Given the description of an element on the screen output the (x, y) to click on. 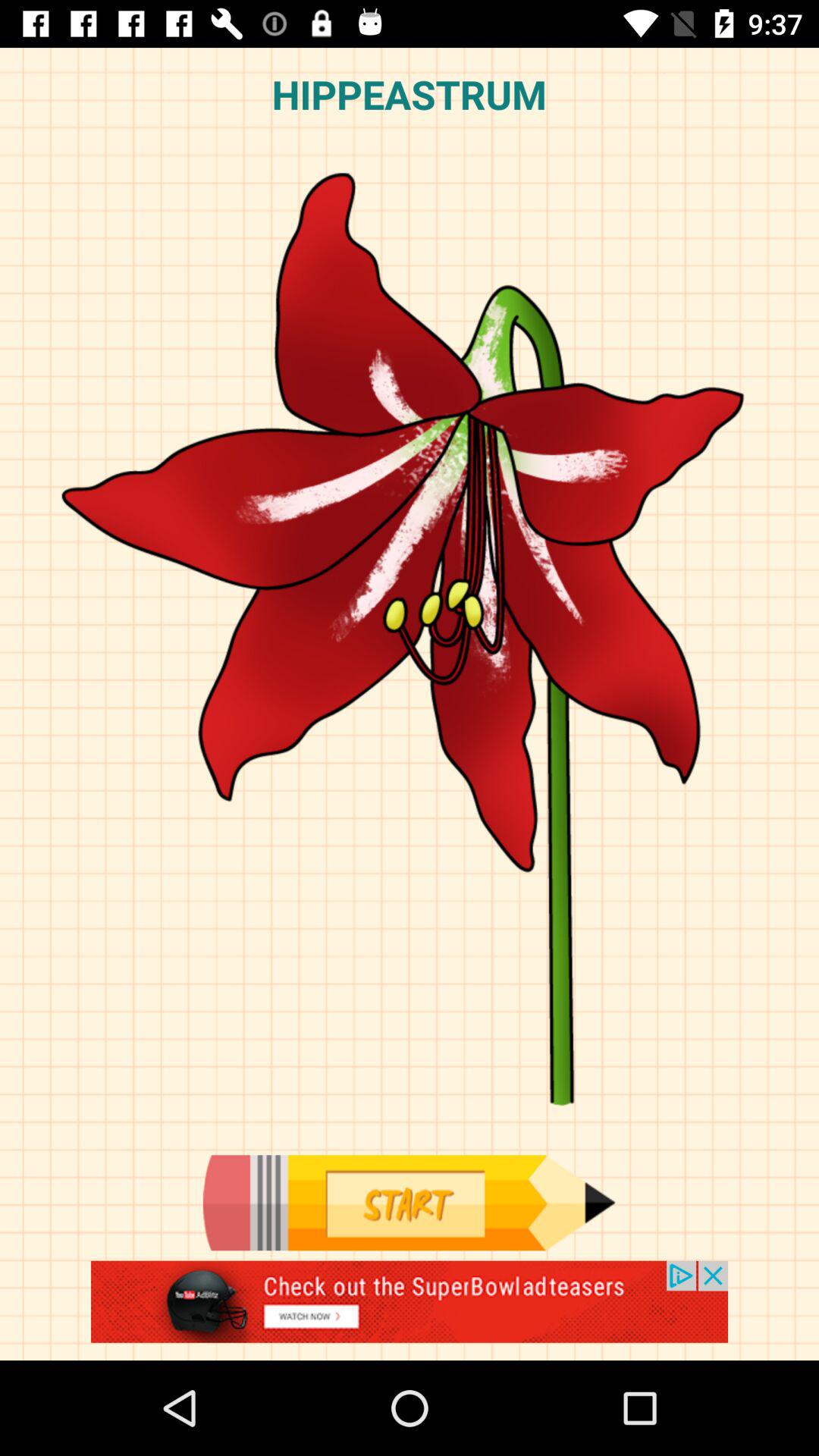
view advertisement (409, 1310)
